Given the description of an element on the screen output the (x, y) to click on. 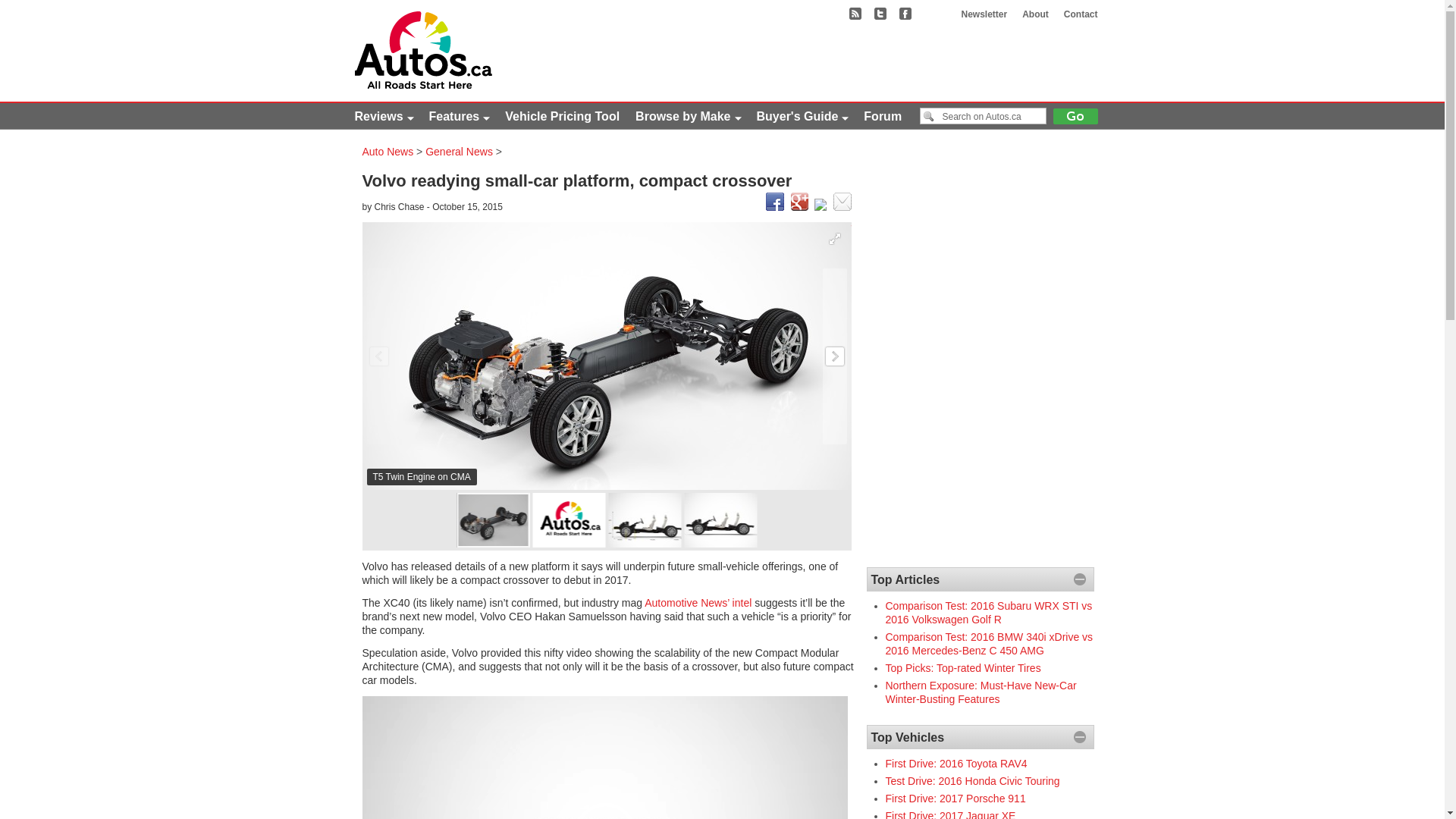
General News Element type: text (458, 151)
First Drive: 2016 Toyota RAV4 Element type: text (956, 763)
Browse by Make Element type: text (687, 117)
Reviews Element type: text (384, 117)
Share by Email Element type: hover (841, 207)
Contact Element type: text (1080, 14)
First Drive: 2017 Porsche 911 Element type: text (955, 798)
About Element type: text (1035, 14)
Forum Element type: text (883, 117)
Features Element type: text (459, 117)
Vehicle Pricing Tool Element type: text (562, 117)
Auto News Element type: text (388, 151)
Northern Exposure: Must-Have New-Car Winter-Busting Features Element type: text (980, 692)
Test Drive: 2016 Honda Civic Touring Element type: text (972, 781)
T5 Twin Engine on CMA Element type: text (606, 355)
Buyer's Guide Element type: text (802, 117)
Top Picks: Top-rated Winter Tires Element type: text (963, 668)
Newsletter Element type: text (983, 14)
